Given the description of an element on the screen output the (x, y) to click on. 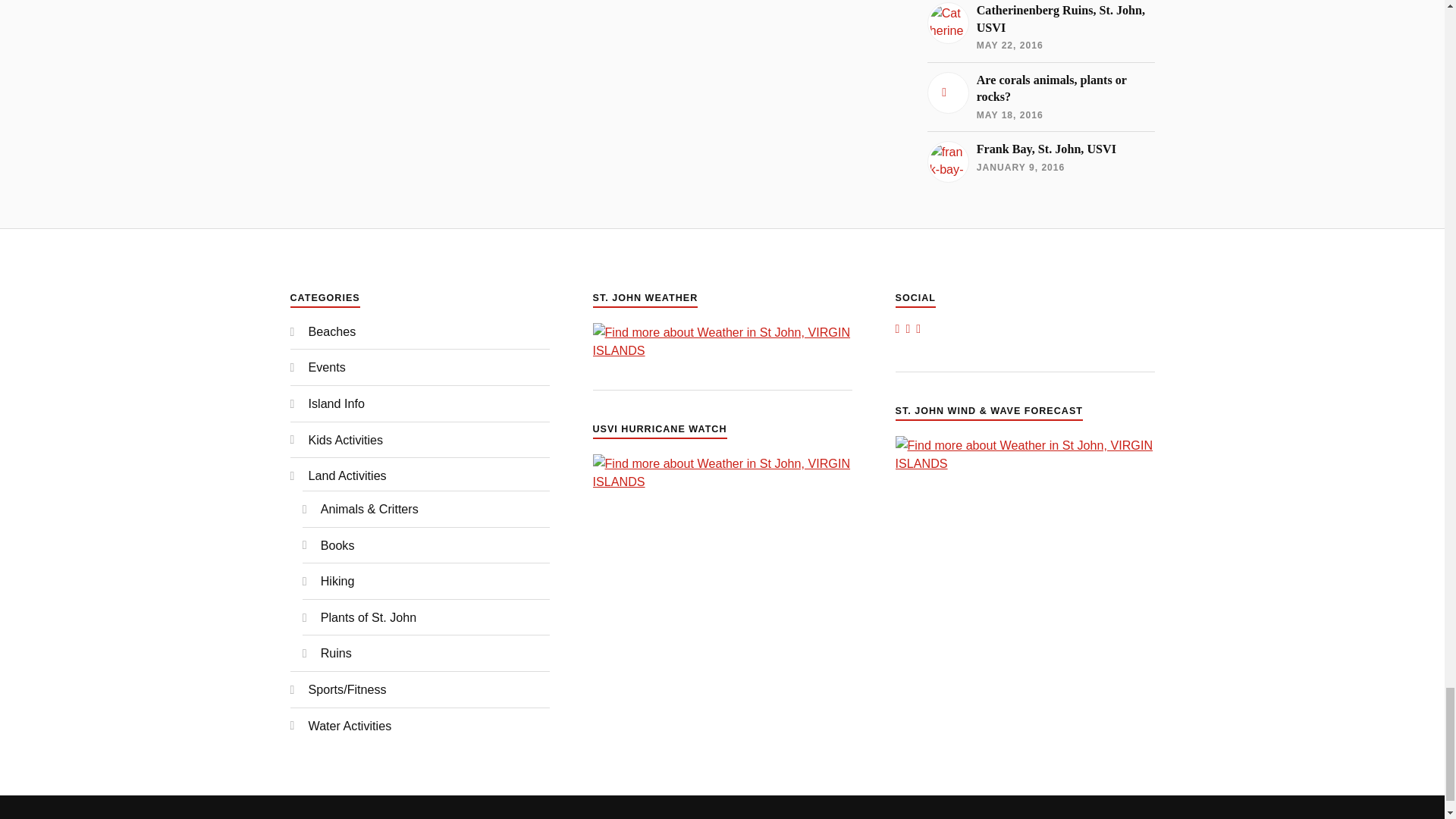
St John, VIRGIN ISLANDS Weather Forecast (721, 350)
USVI Hurricane Watch (721, 481)
St John, VIRGIN ISLANDS Weather Forecast (1024, 463)
